Given the description of an element on the screen output the (x, y) to click on. 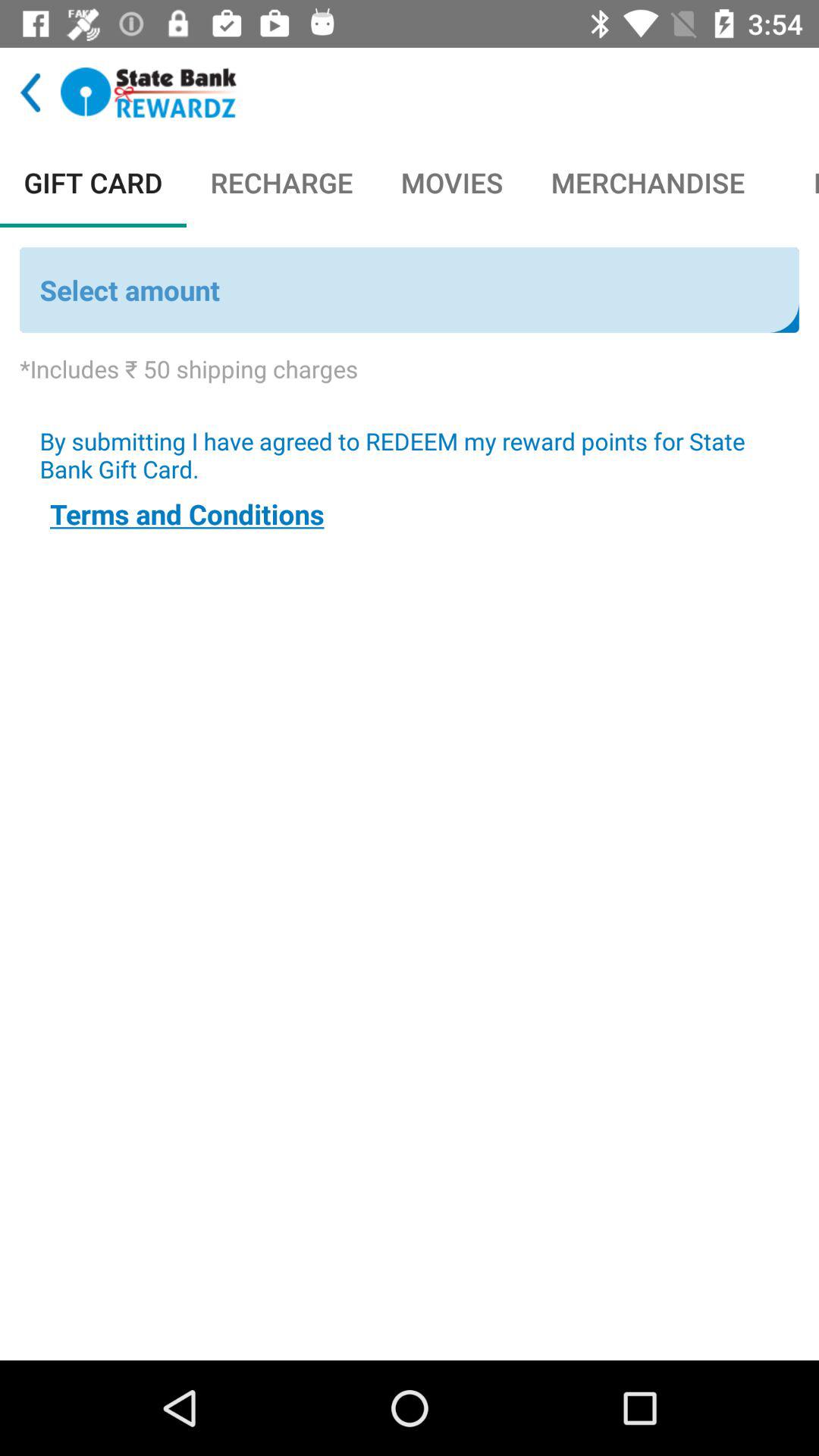
go to terms and conditions (187, 513)
select the arrow which is left to the state bank logo (30, 92)
